Given the description of an element on the screen output the (x, y) to click on. 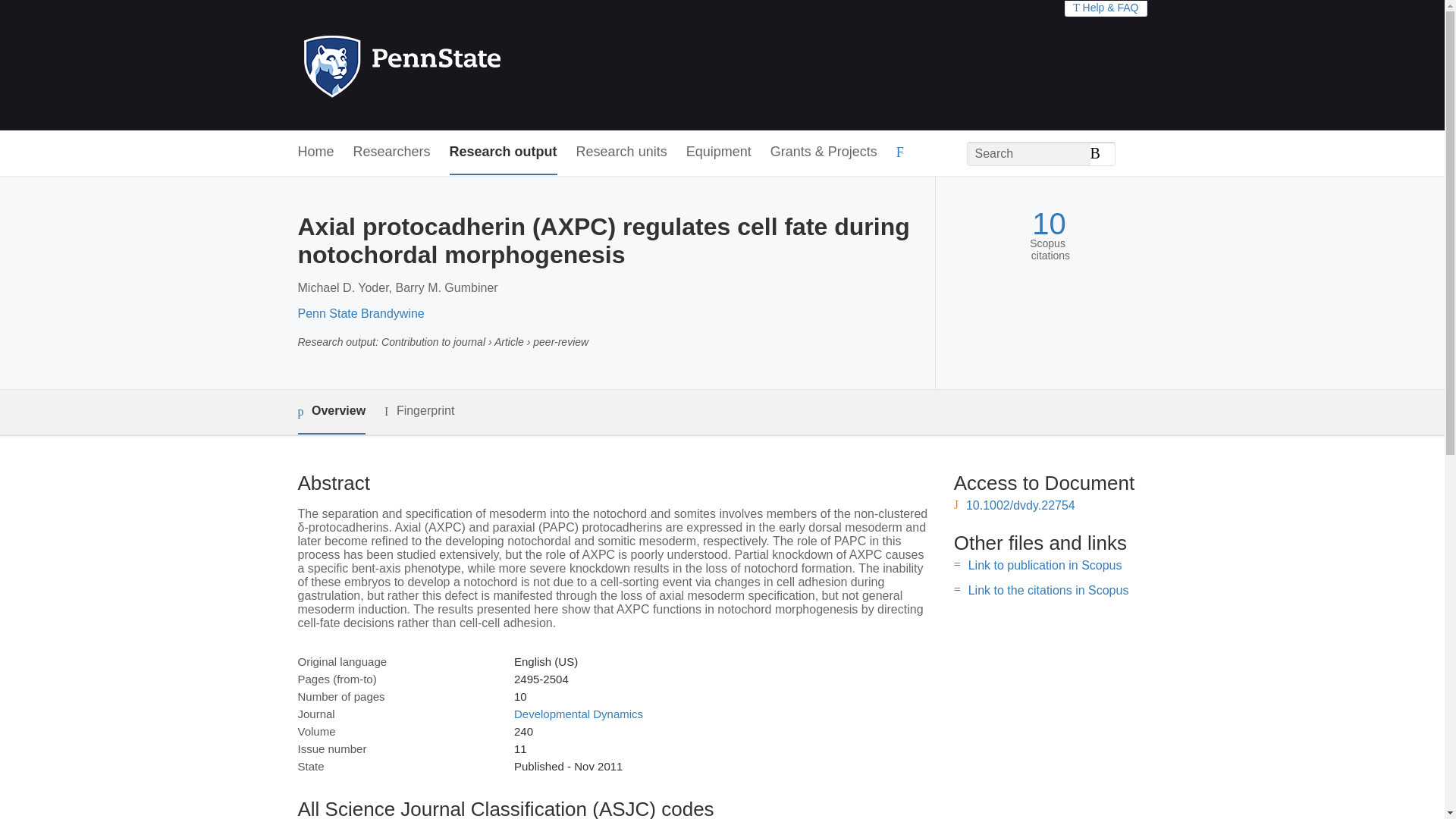
Research units (621, 152)
Developmental Dynamics (578, 713)
Penn State Home (467, 65)
Research output (503, 152)
Penn State Brandywine (360, 313)
Link to publication in Scopus (1045, 564)
Fingerprint (419, 411)
10 (1048, 223)
Link to the citations in Scopus (1048, 590)
Equipment (718, 152)
Overview (331, 411)
Researchers (391, 152)
